Given the description of an element on the screen output the (x, y) to click on. 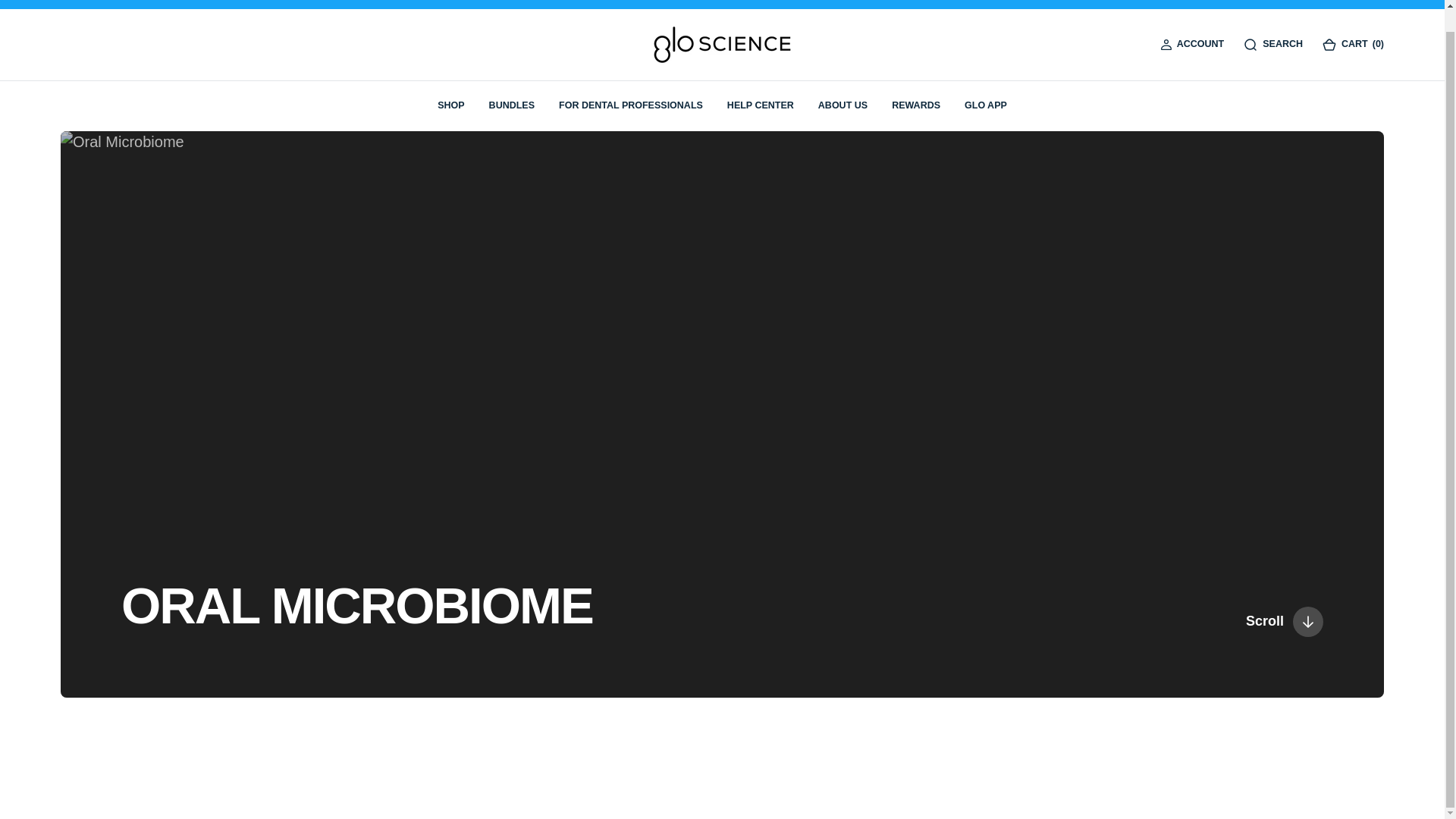
Search (1273, 44)
Account (1200, 45)
SHOP (450, 106)
For Dental Professionals (631, 104)
Search (1282, 45)
Help Center (759, 104)
About Us (842, 104)
Rewards (915, 104)
SEARCH (1273, 44)
GLO App (985, 104)
